Given the description of an element on the screen output the (x, y) to click on. 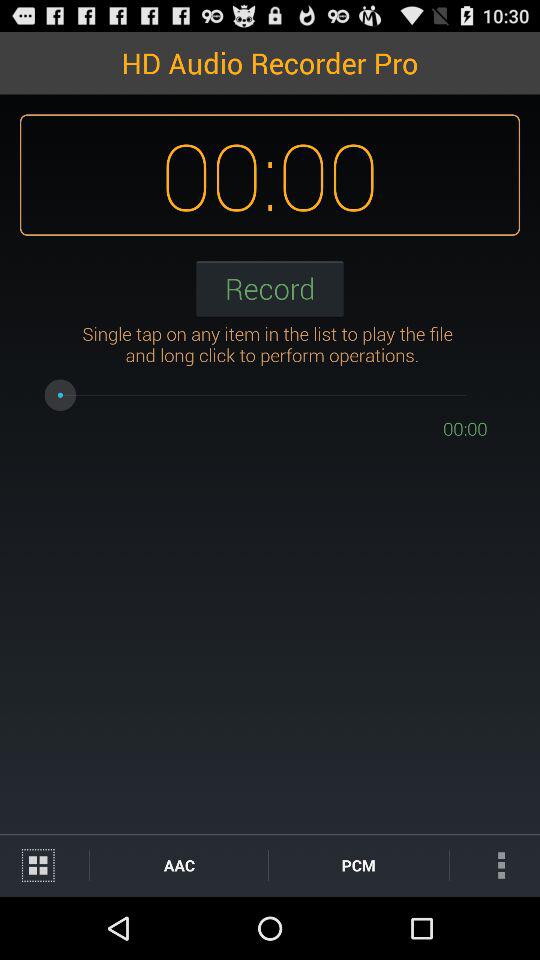
choose the icon to the left of aac icon (44, 864)
